Given the description of an element on the screen output the (x, y) to click on. 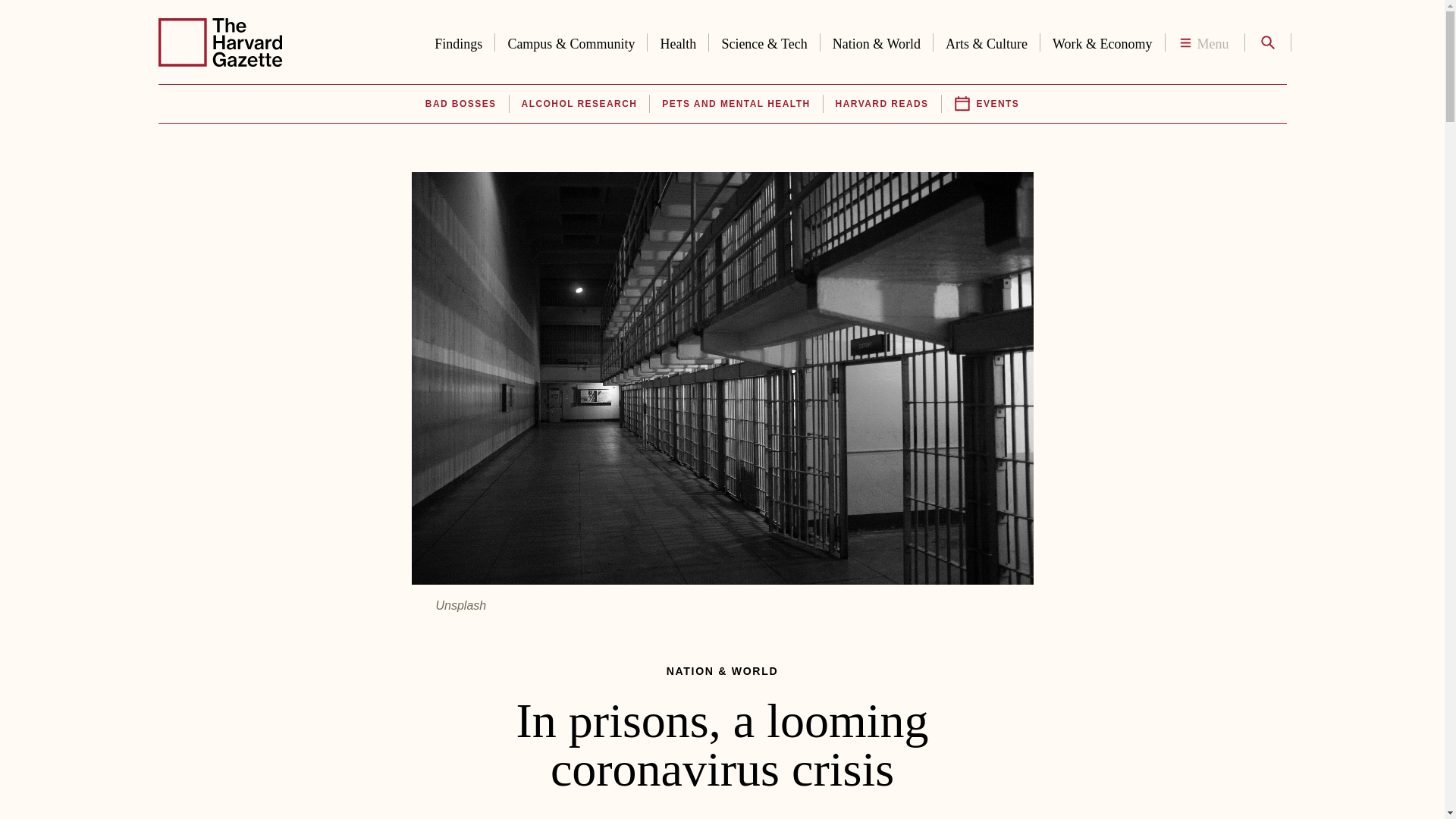
BAD BOSSES (460, 103)
Findings (457, 41)
Health (677, 41)
Menu (1204, 42)
ALCOHOL RESEARCH (579, 103)
